Given the description of an element on the screen output the (x, y) to click on. 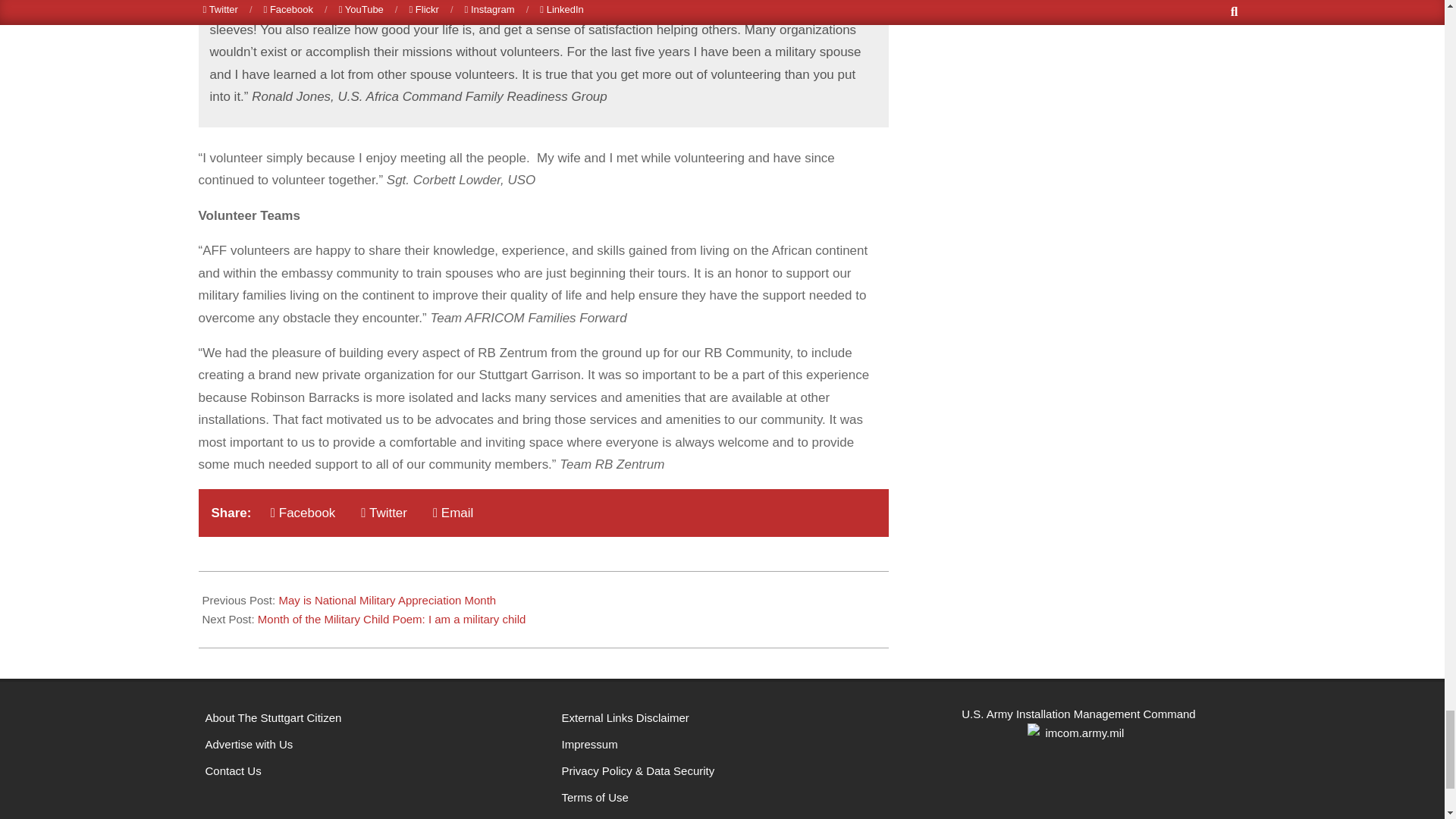
Share on Twitter (384, 513)
Share on Facebook (302, 513)
Share via Email (452, 513)
Opens in a new window (721, 814)
